Given the description of an element on the screen output the (x, y) to click on. 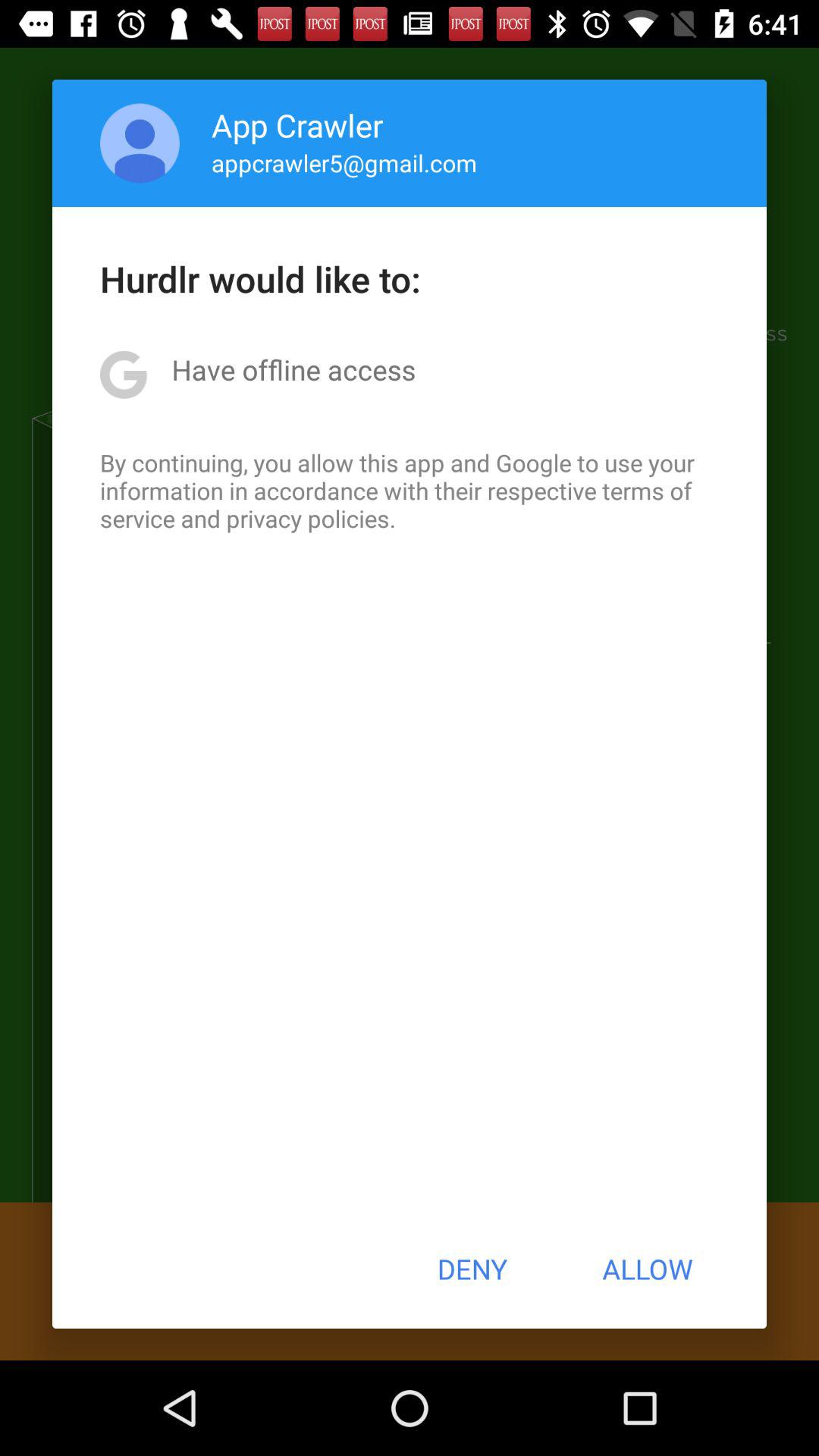
turn off deny at the bottom (471, 1268)
